Given the description of an element on the screen output the (x, y) to click on. 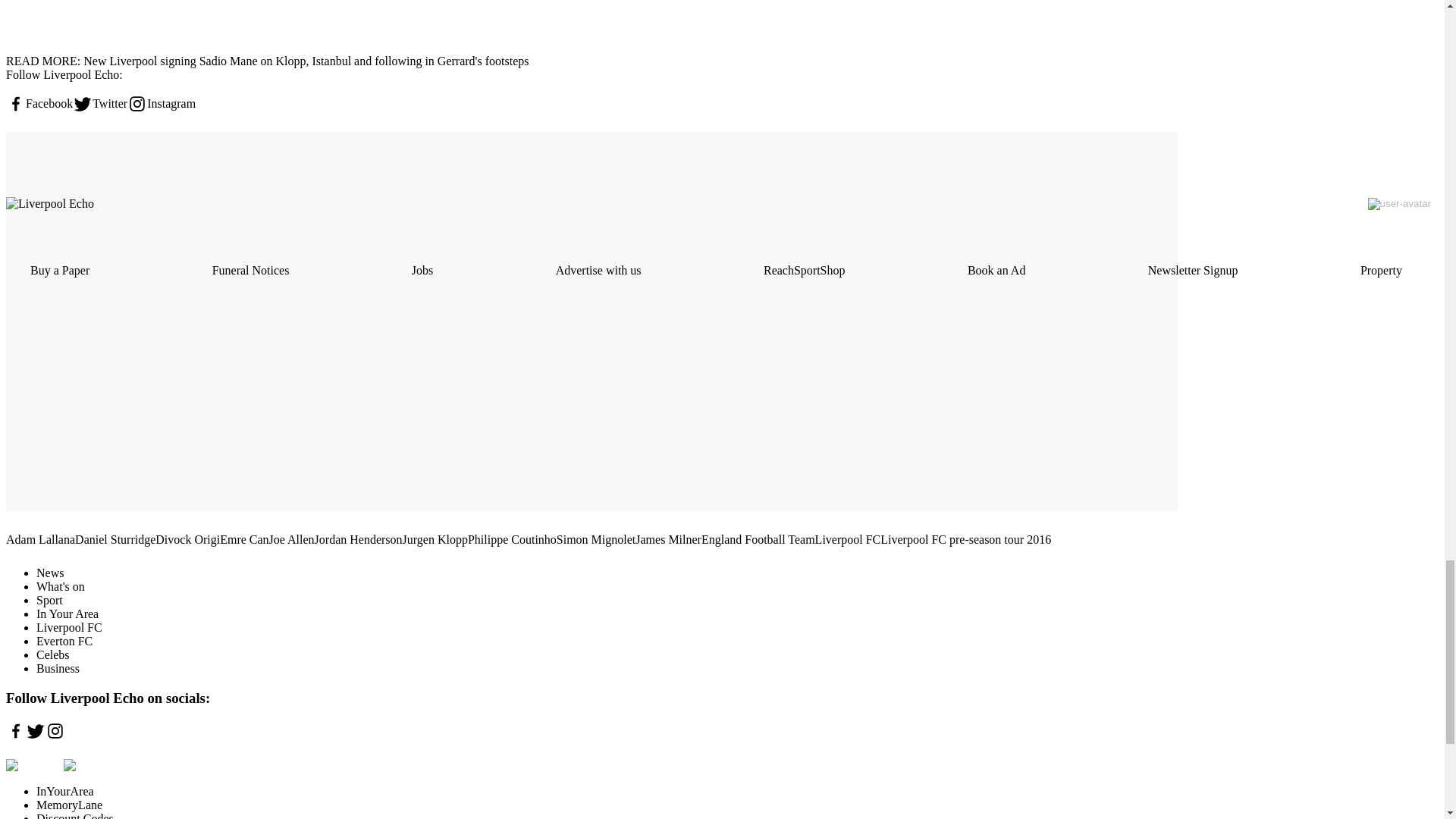
Philippe Coutinho (511, 540)
Daniel Sturridge (115, 540)
James Milner (667, 540)
Divock Origi (187, 540)
Jordan Henderson (358, 540)
Simon Mignolet (595, 540)
England Football Team (758, 540)
Joe Allen (291, 540)
Jurgen Klopp (435, 540)
